Given the description of an element on the screen output the (x, y) to click on. 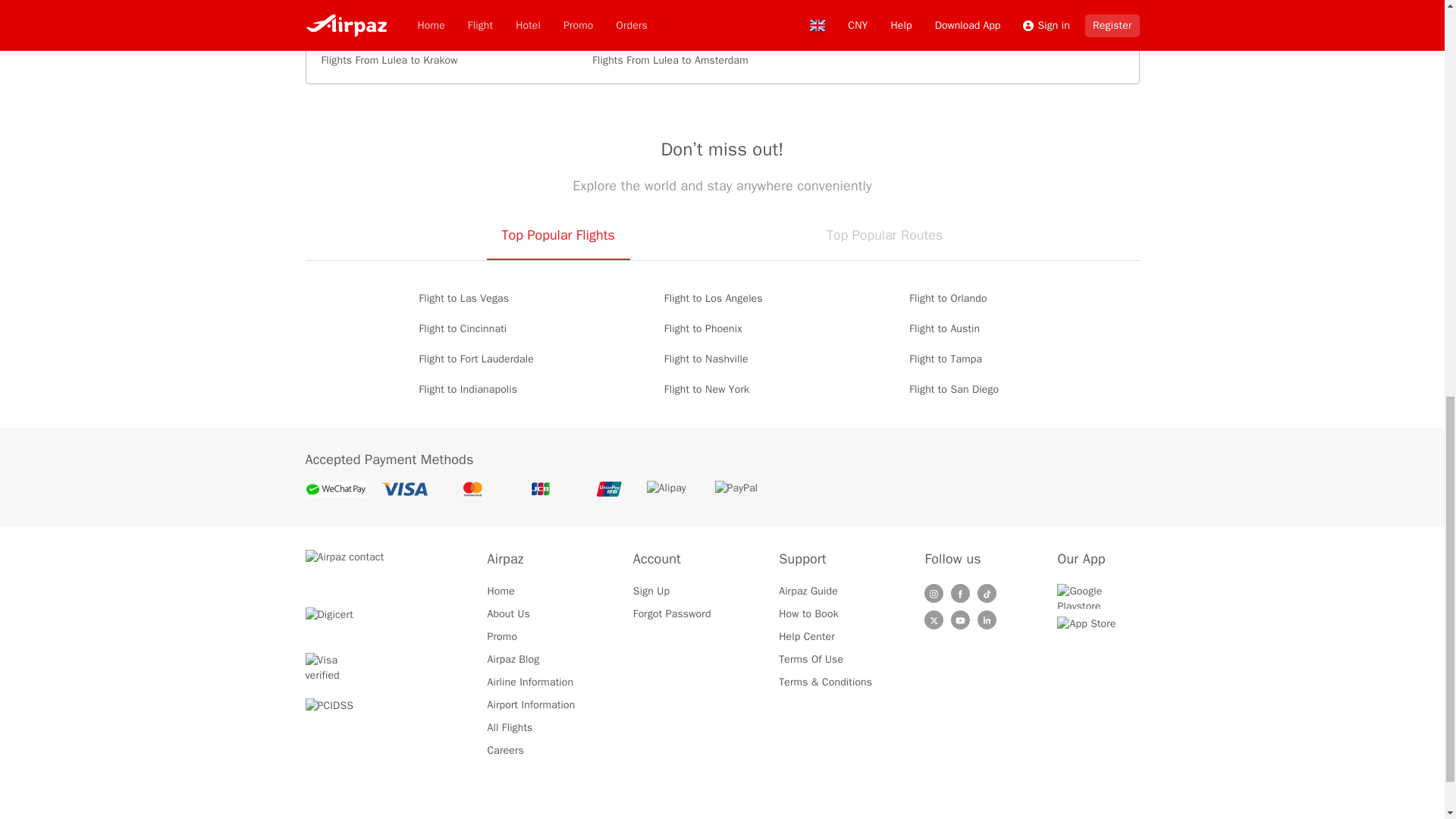
Flights From Lulea to Paris (450, 33)
Flights From Lulea to Barcelona (450, 7)
Flights From Lulea to Copenhagen (721, 7)
Flights From Lulea to Alicante (993, 7)
